Given the description of an element on the screen output the (x, y) to click on. 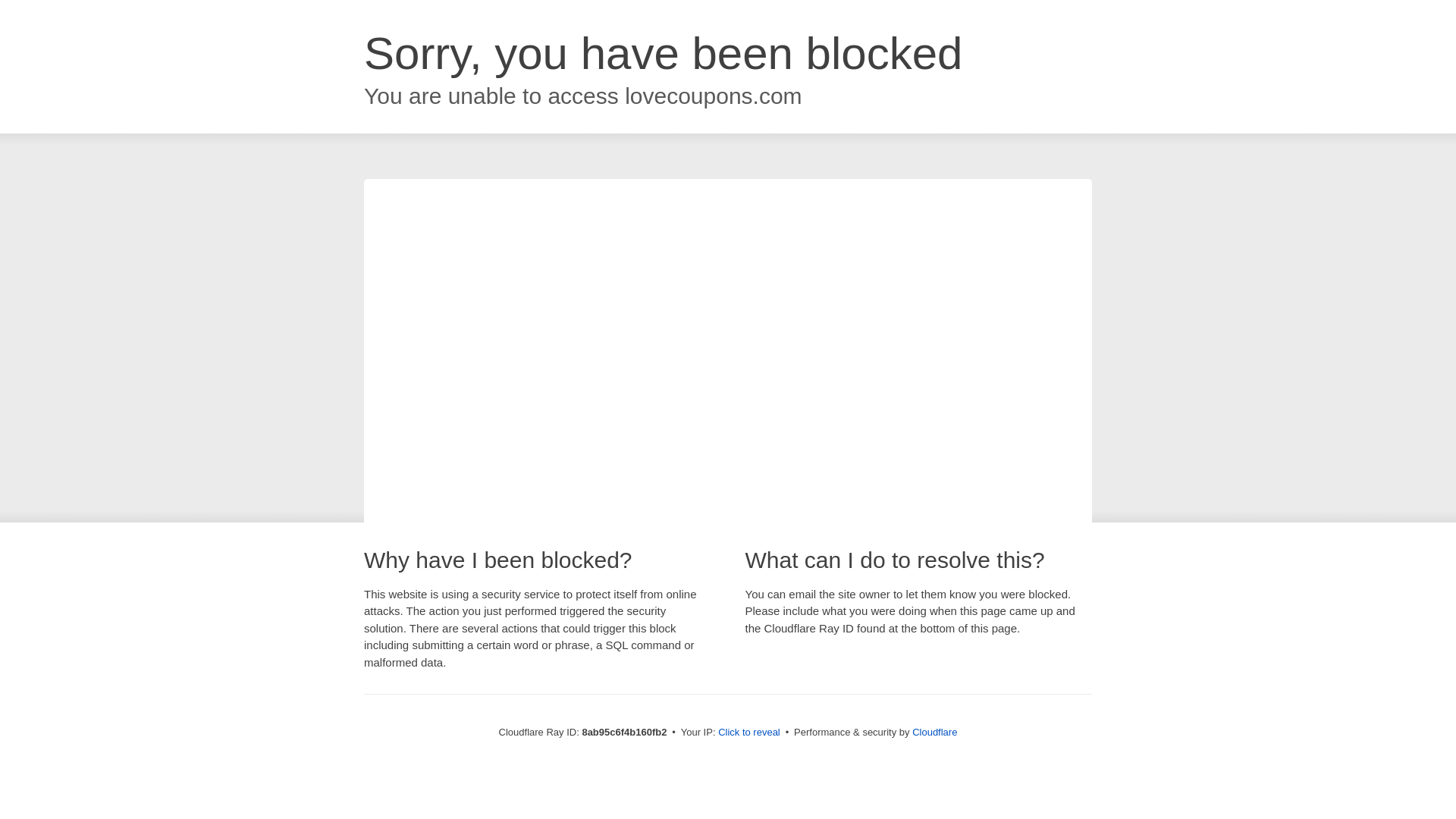
Cloudflare (934, 731)
Click to reveal (748, 732)
